Given the description of an element on the screen output the (x, y) to click on. 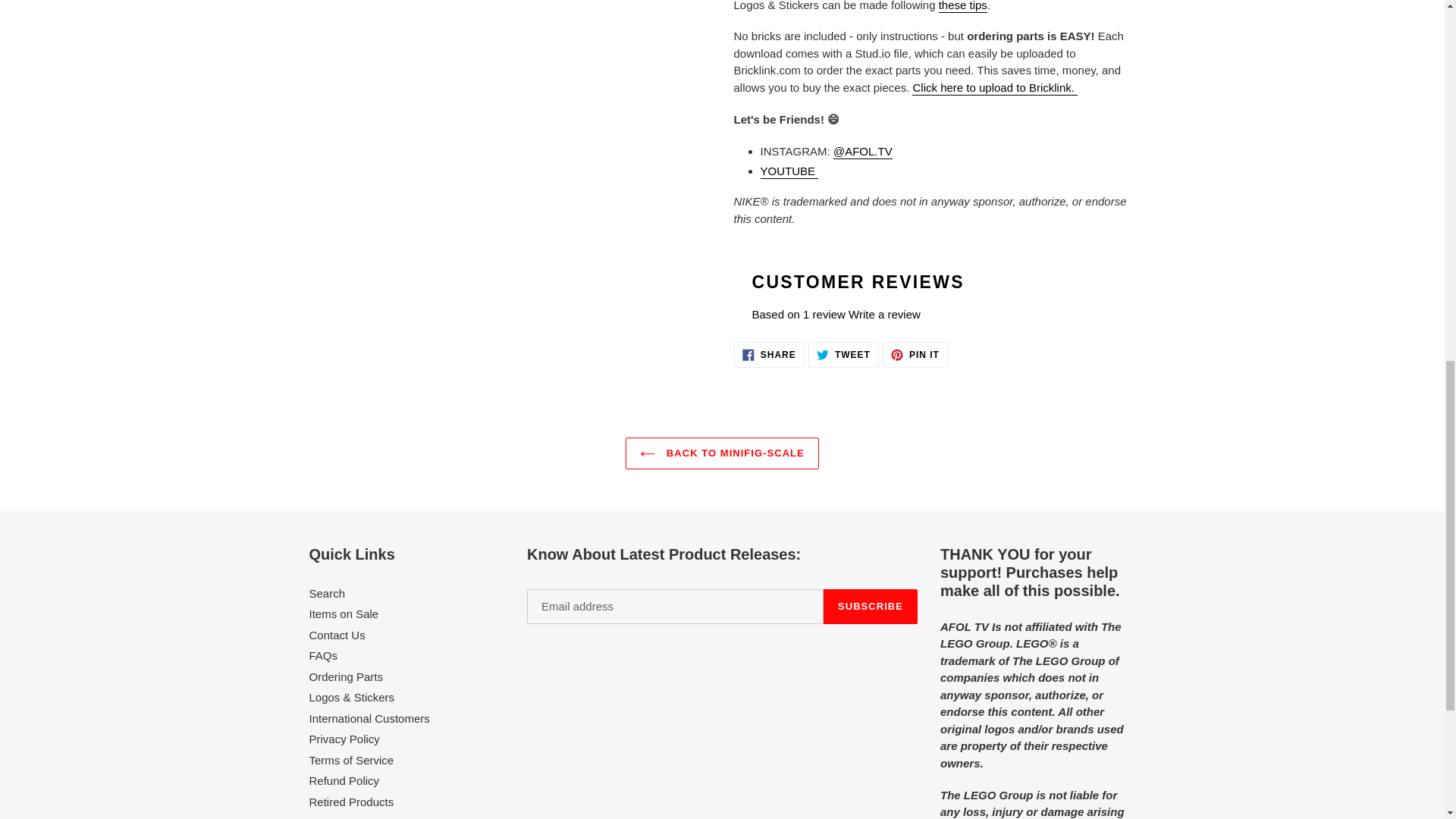
Upload Parts (994, 88)
Instagram (862, 151)
YouTube Channel (789, 171)
